Given the description of an element on the screen output the (x, y) to click on. 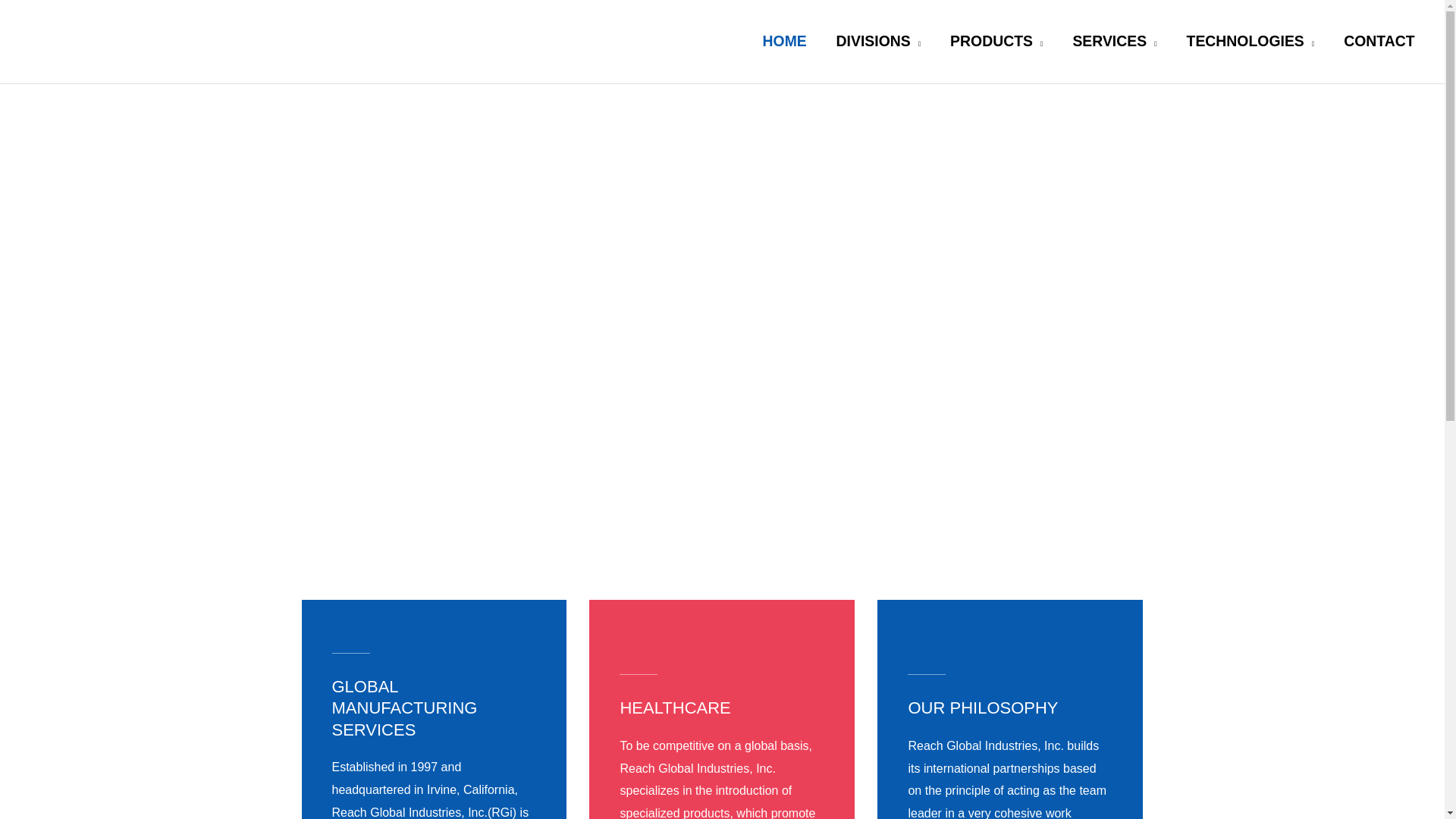
DIVISIONS (878, 41)
SERVICES (1115, 41)
CONTACT (1379, 41)
PRODUCTS (997, 41)
TECHNOLOGIES (1250, 41)
HOME (784, 41)
